Given the description of an element on the screen output the (x, y) to click on. 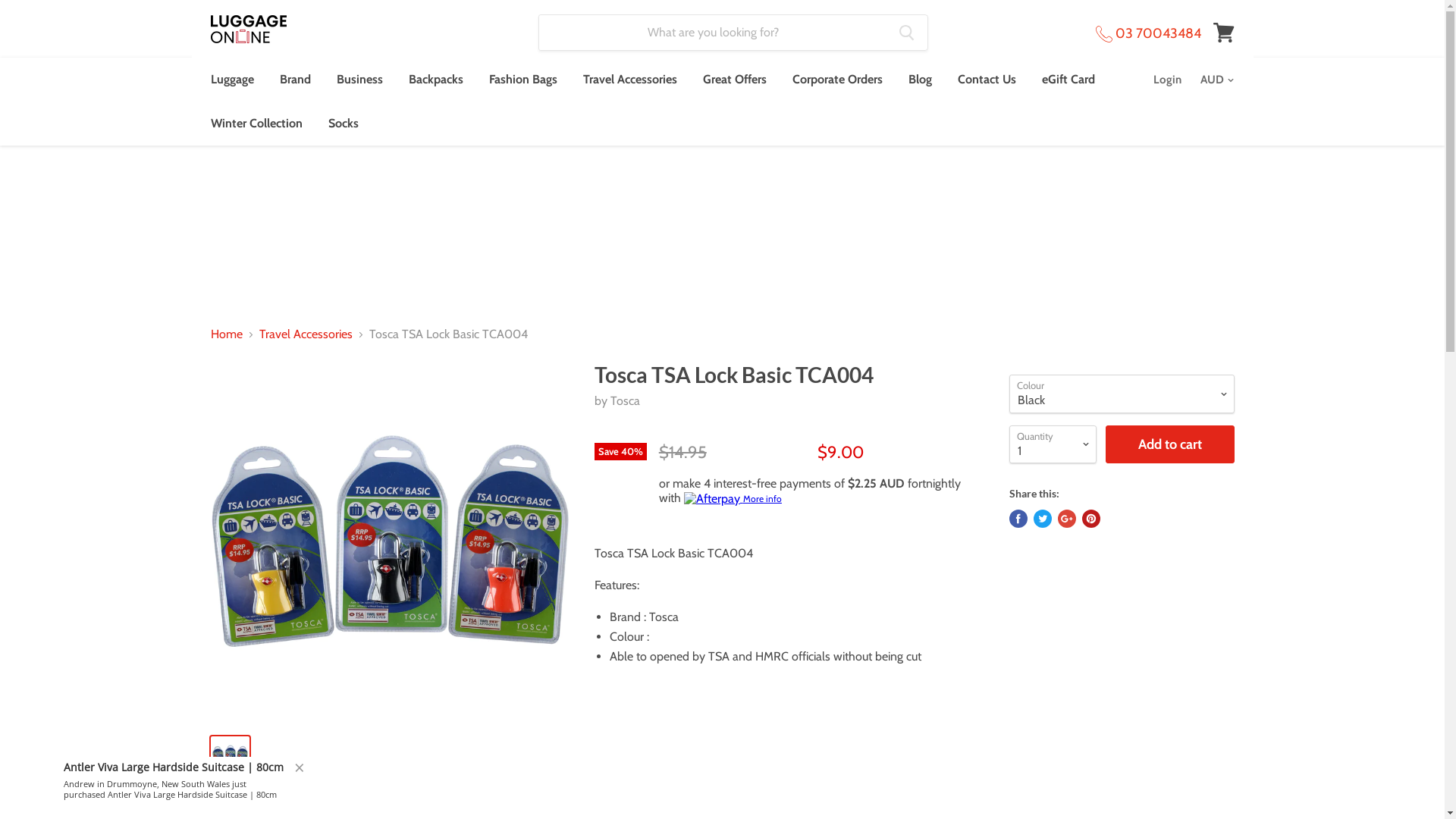
Home Element type: text (226, 334)
eGift Card Element type: text (1067, 79)
Pin on Pinterest Element type: text (1090, 518)
View cart Element type: text (1223, 32)
Tweet on Twitter Element type: text (1041, 518)
Travel Accessories Element type: text (305, 334)
Great Offers Element type: text (734, 79)
Login Element type: text (1166, 79)
Winter Collection Element type: text (255, 123)
03 70043484 Element type: text (1147, 33)
Travel Accessories Element type: text (629, 79)
More info Element type: text (732, 498)
Luggage Element type: text (231, 79)
Brand Element type: text (295, 79)
Add to cart Element type: text (1169, 444)
Corporate Orders Element type: text (837, 79)
Contact Us Element type: text (986, 79)
Blog Element type: text (919, 79)
Backpacks Element type: text (435, 79)
Fashion Bags Element type: text (522, 79)
Share on Facebook Element type: text (1017, 518)
Share on Google+ Element type: text (1066, 518)
Socks Element type: text (343, 123)
Business Element type: text (358, 79)
